Given the description of an element on the screen output the (x, y) to click on. 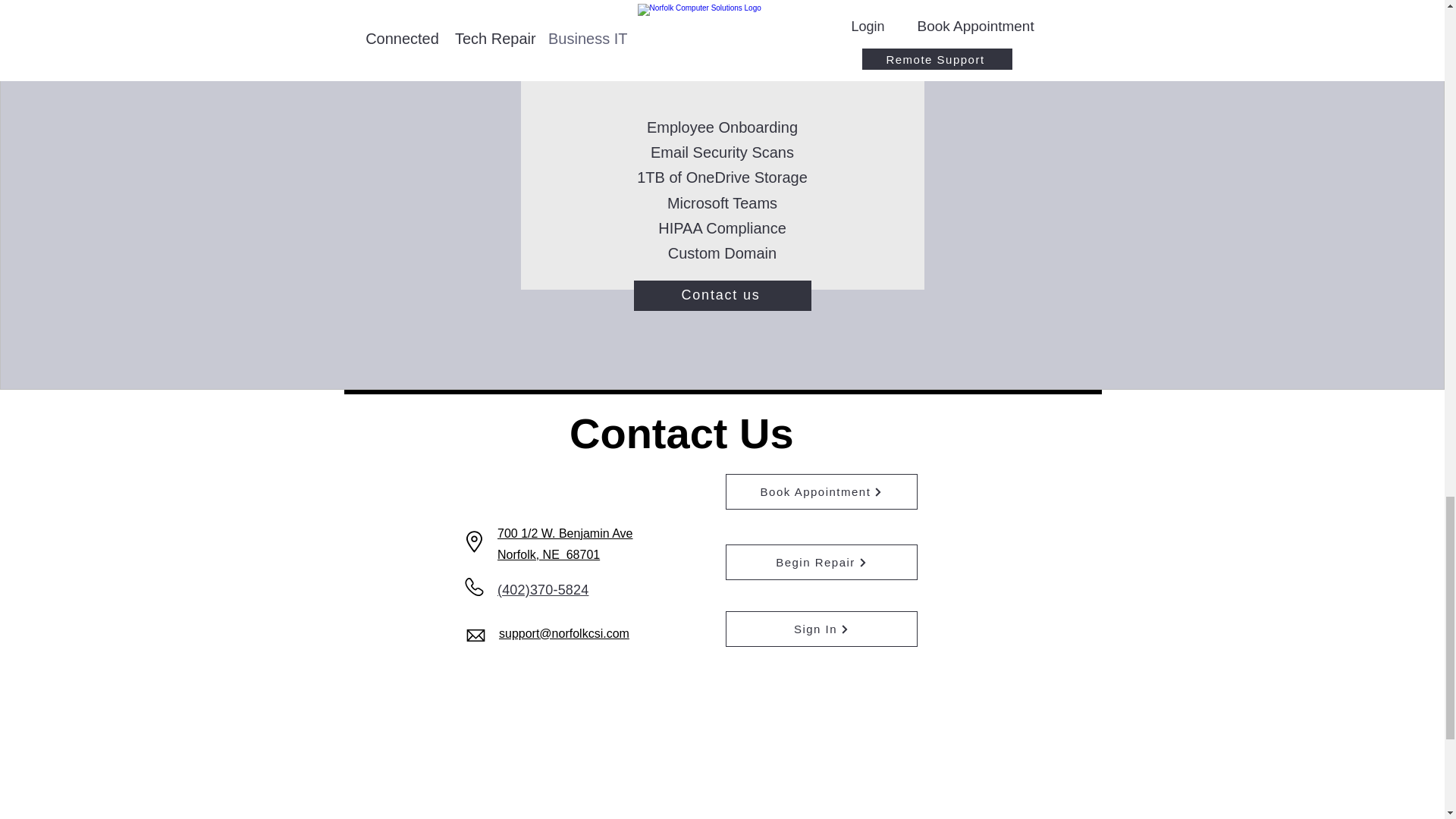
Book Appointment (821, 491)
Sign In (821, 628)
Contact us (721, 295)
Begin Repair (821, 561)
